Given the description of an element on the screen output the (x, y) to click on. 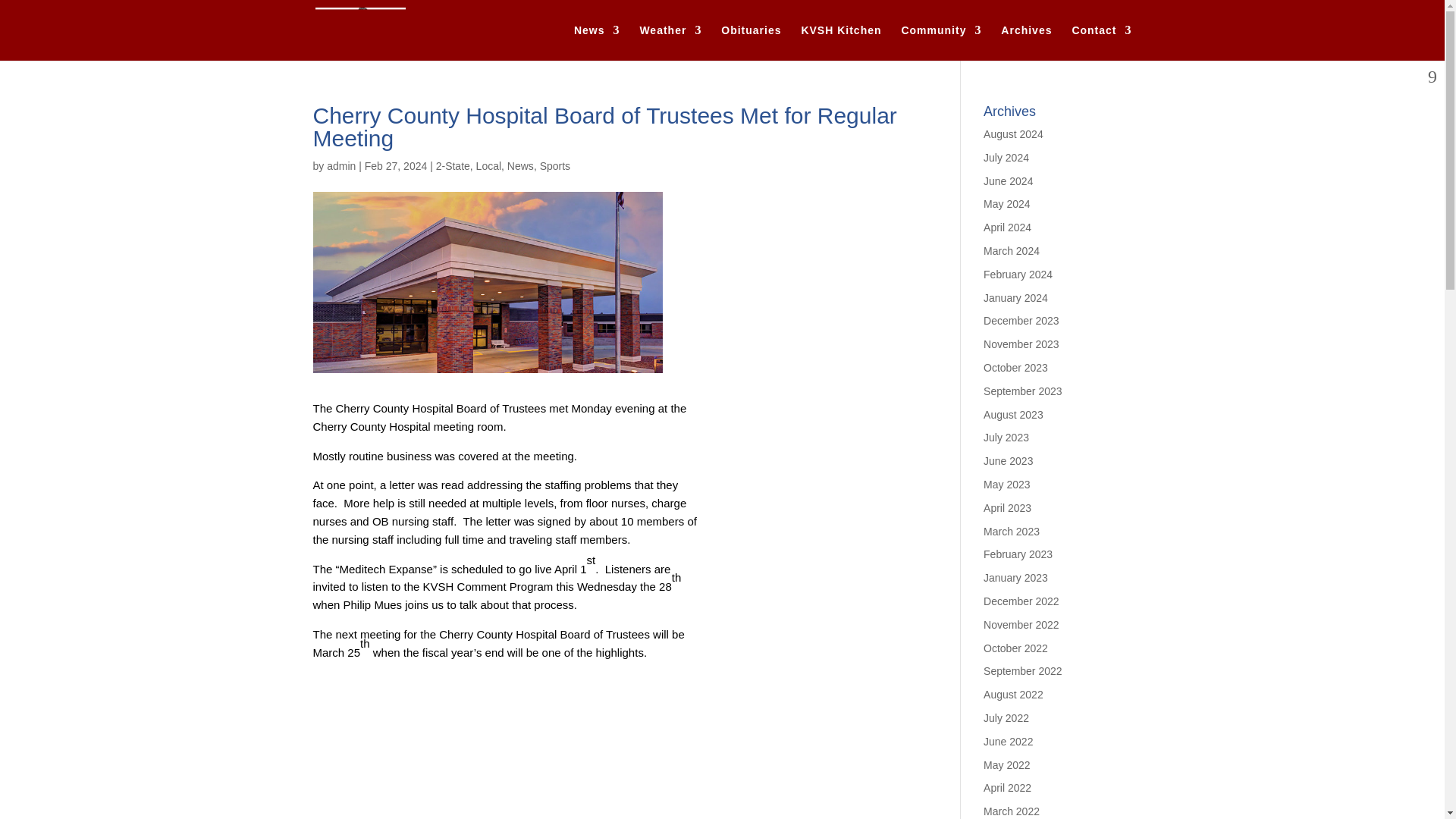
Archives (1026, 42)
KVSH Kitchen (840, 42)
News (596, 42)
Community (941, 42)
Obituaries (750, 42)
Posts by admin (340, 165)
Weather (670, 42)
Contact (1101, 42)
